Given the description of an element on the screen output the (x, y) to click on. 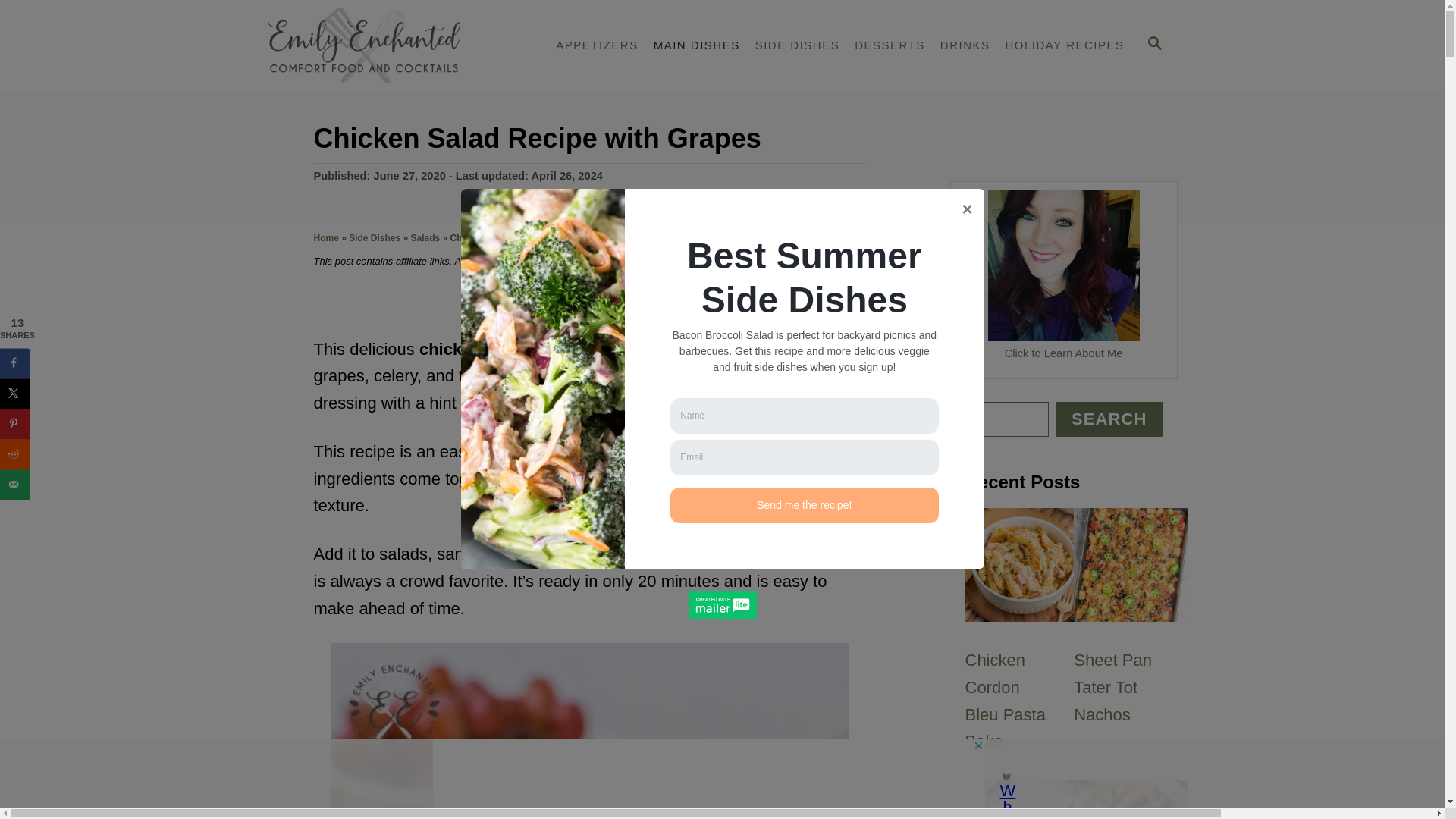
SIDE DISHES (797, 45)
Emily Enchanted (393, 45)
APPETIZERS (596, 45)
DRINKS (965, 45)
Chicken Salad Recipe with Grapes (589, 730)
DESSERTS (890, 45)
SEARCH (1153, 45)
MAIN DISHES (697, 45)
HOLIDAY RECIPES (1064, 45)
